Given the description of an element on the screen output the (x, y) to click on. 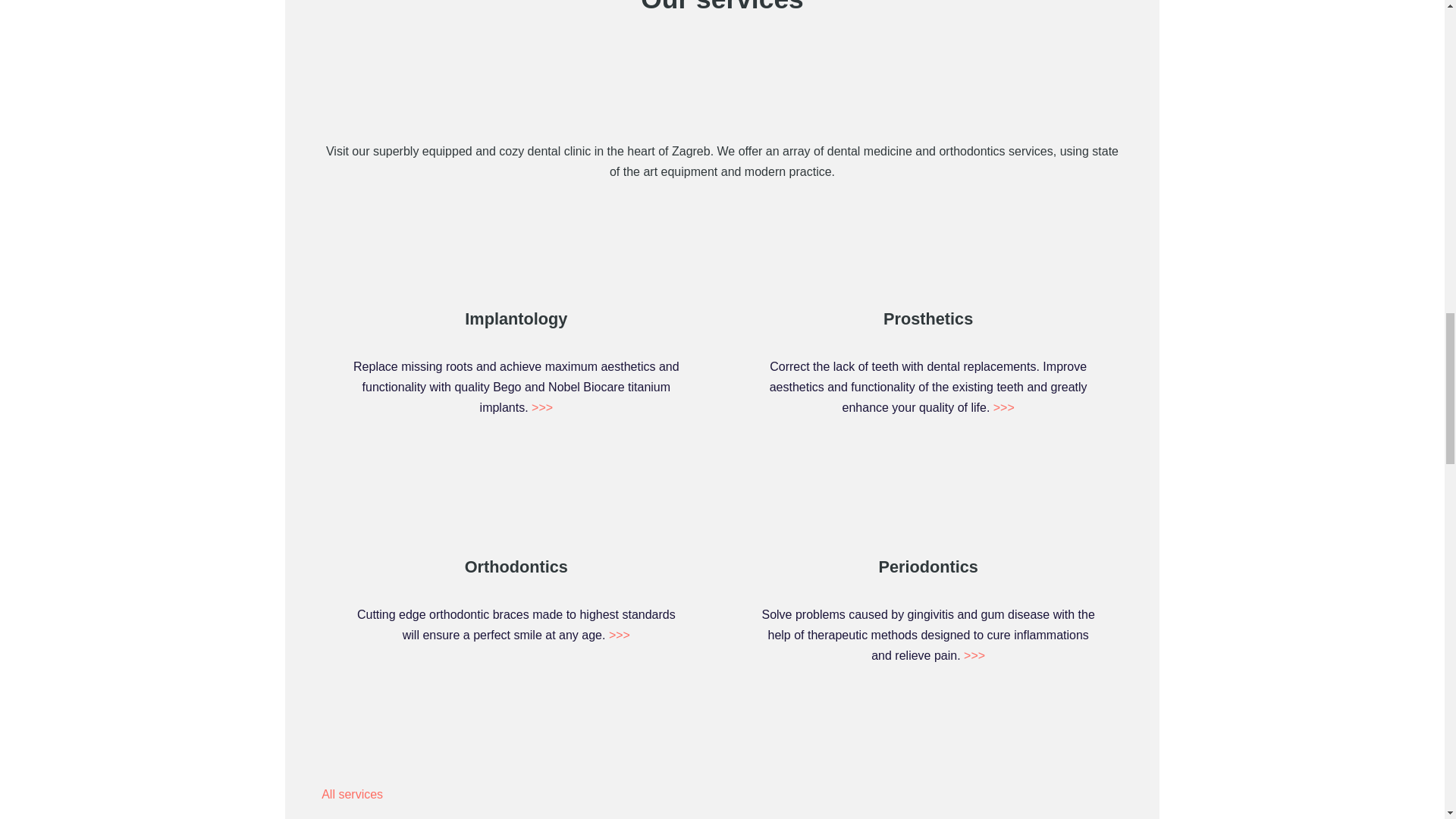
Implantology (515, 318)
Parodontologija (760, 511)
Protetika (760, 263)
Ortodoncija (347, 511)
Implantologija (347, 263)
